Given the description of an element on the screen output the (x, y) to click on. 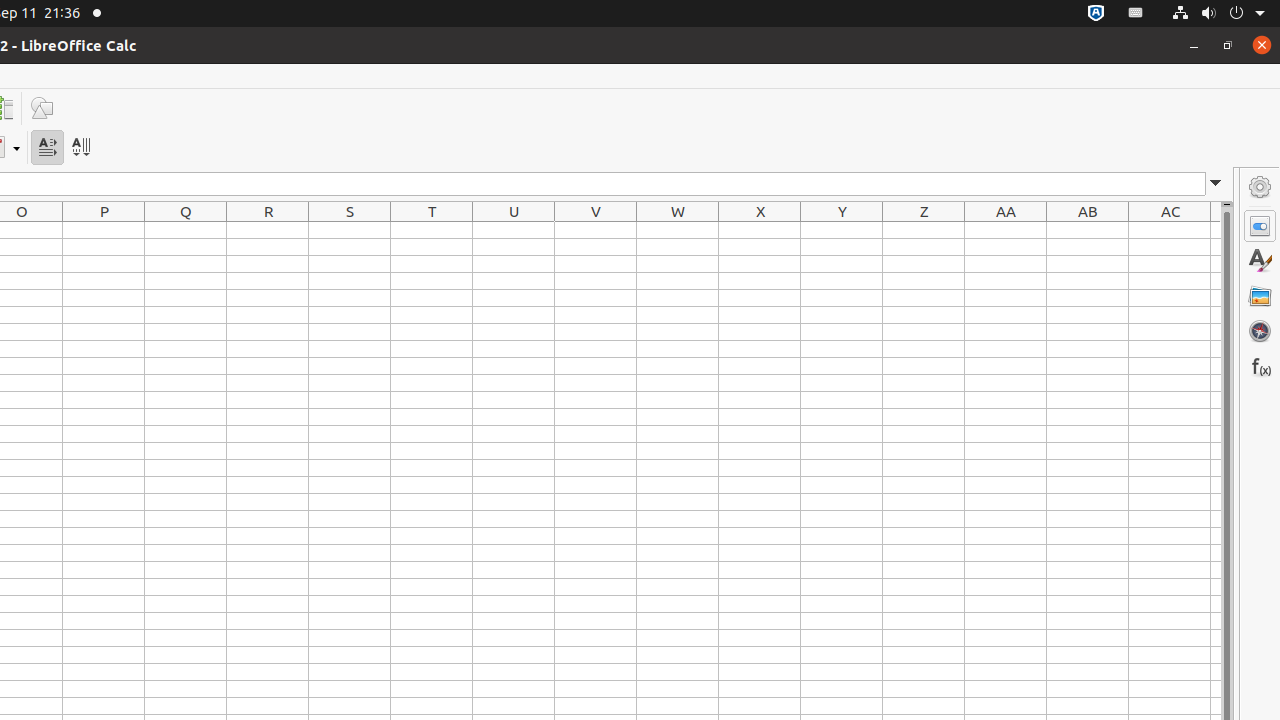
T1 Element type: table-cell (432, 230)
Q1 Element type: table-cell (186, 230)
Properties Element type: radio-button (1260, 226)
W1 Element type: table-cell (678, 230)
